Given the description of an element on the screen output the (x, y) to click on. 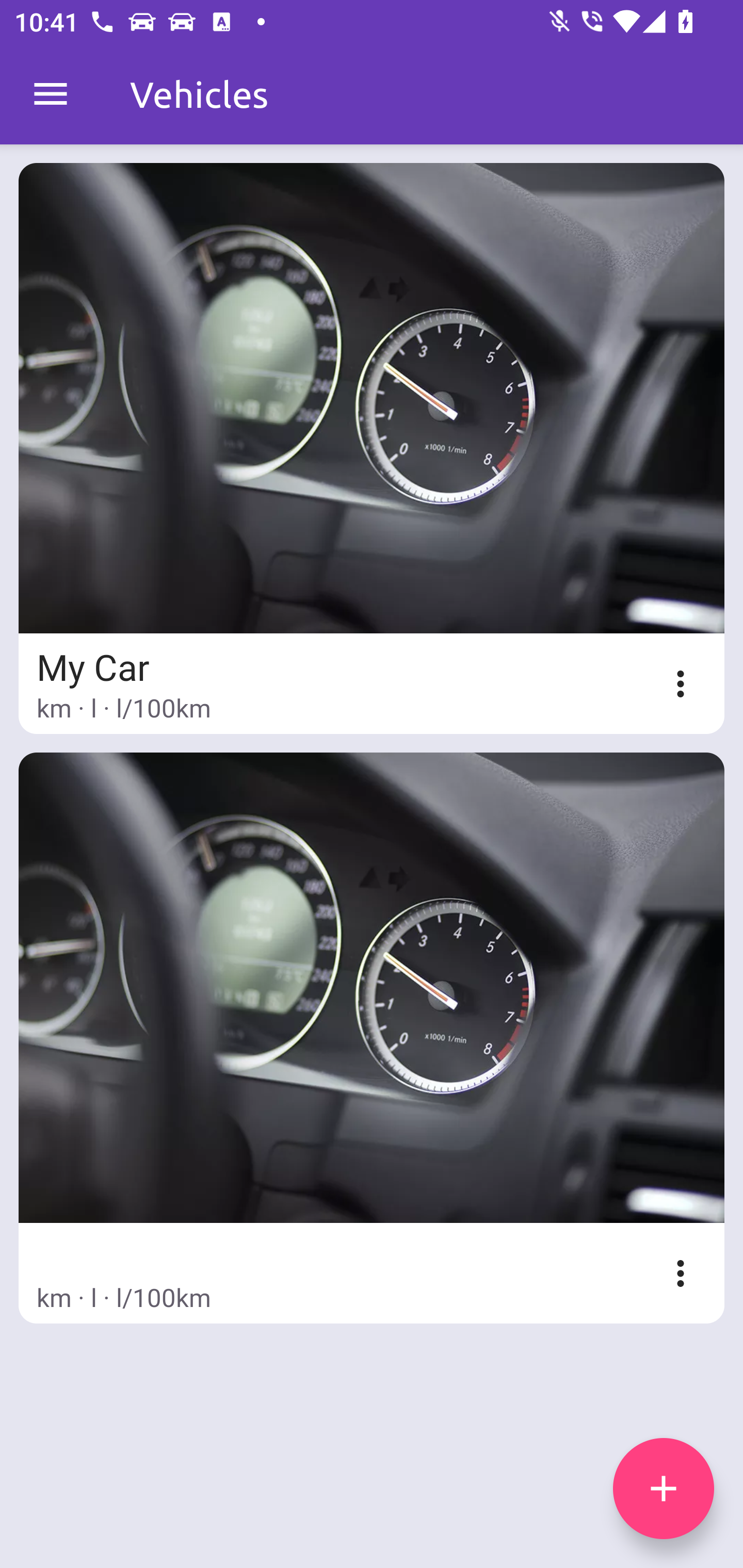
MenuDrawer (50, 93)
My Car km · l · l/100km (371, 448)
km · l · l/100km (371, 1037)
add icon (663, 1488)
